Given the description of an element on the screen output the (x, y) to click on. 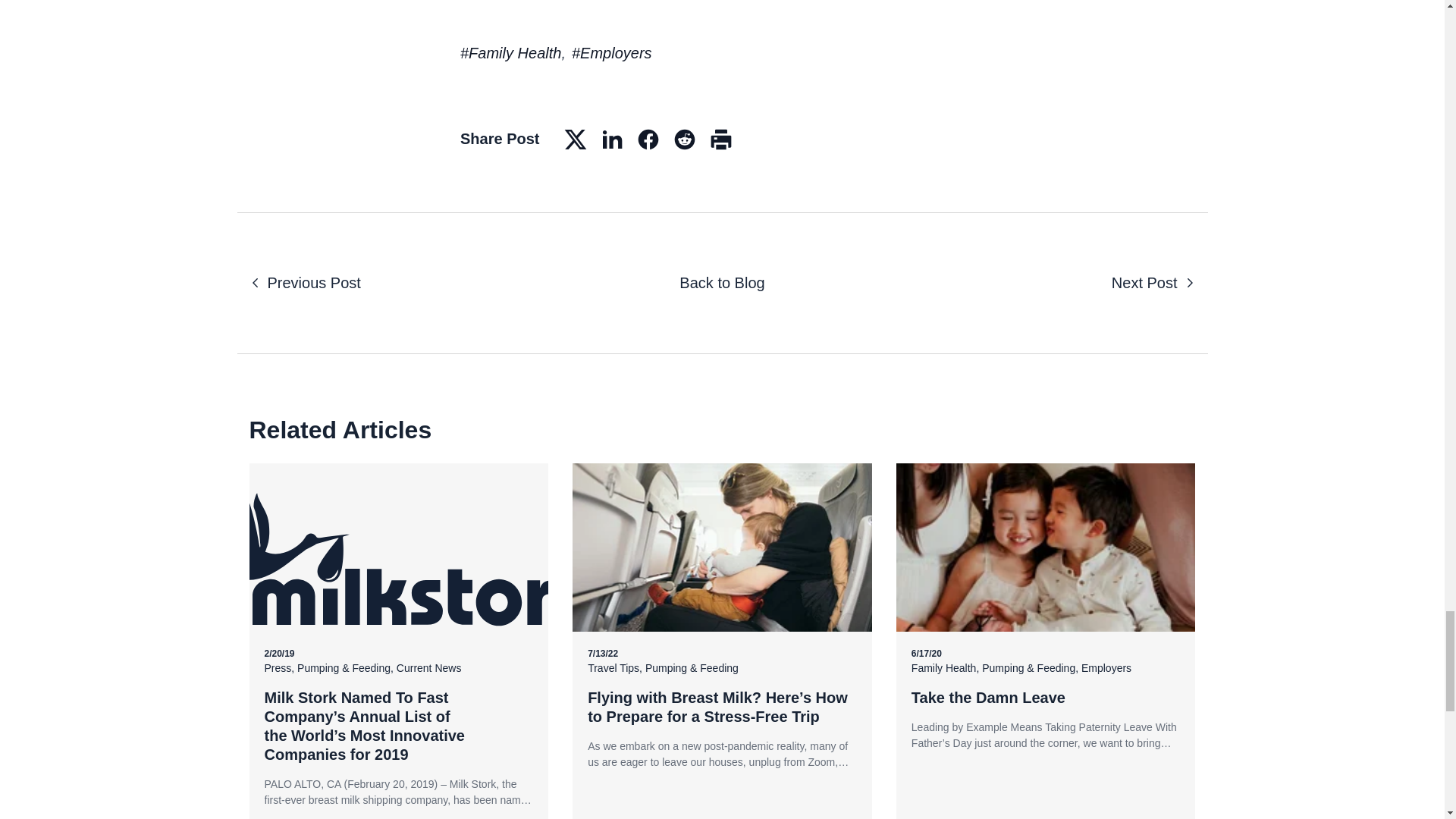
Twitter (575, 139)
LinkedIn (611, 139)
Facebook (648, 139)
Next Post (1153, 282)
Back to Blog (721, 282)
Reddit (684, 139)
Previous Post (303, 282)
Print (721, 139)
